Given the description of an element on the screen output the (x, y) to click on. 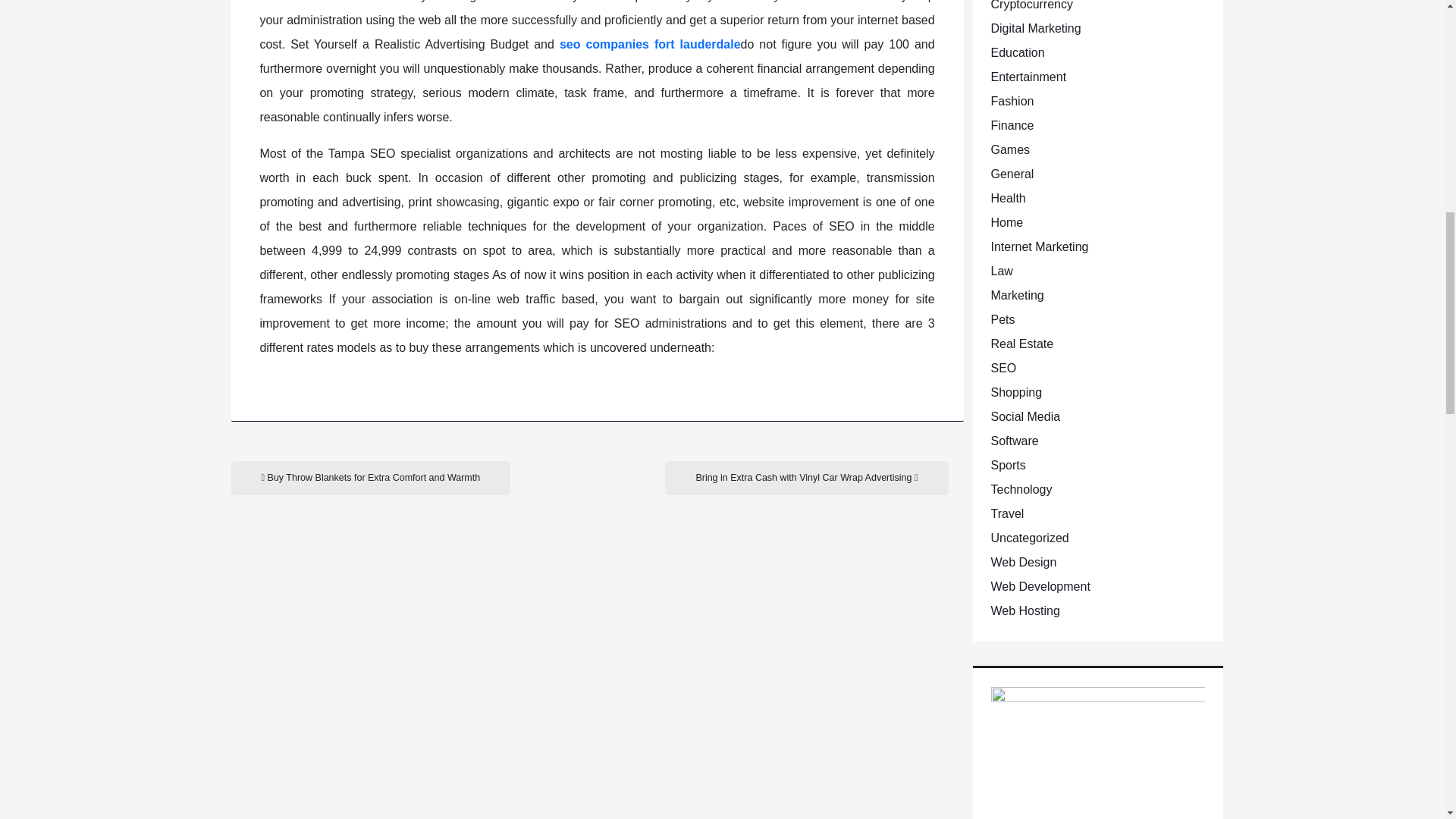
Fashion (1011, 101)
Real Estate (1021, 343)
Pets (1002, 318)
Law (1000, 270)
Entertainment (1027, 76)
Digital Marketing (1035, 28)
Internet Marketing (1038, 246)
Cryptocurrency (1030, 5)
General (1011, 173)
SEO (1003, 367)
